Given the description of an element on the screen output the (x, y) to click on. 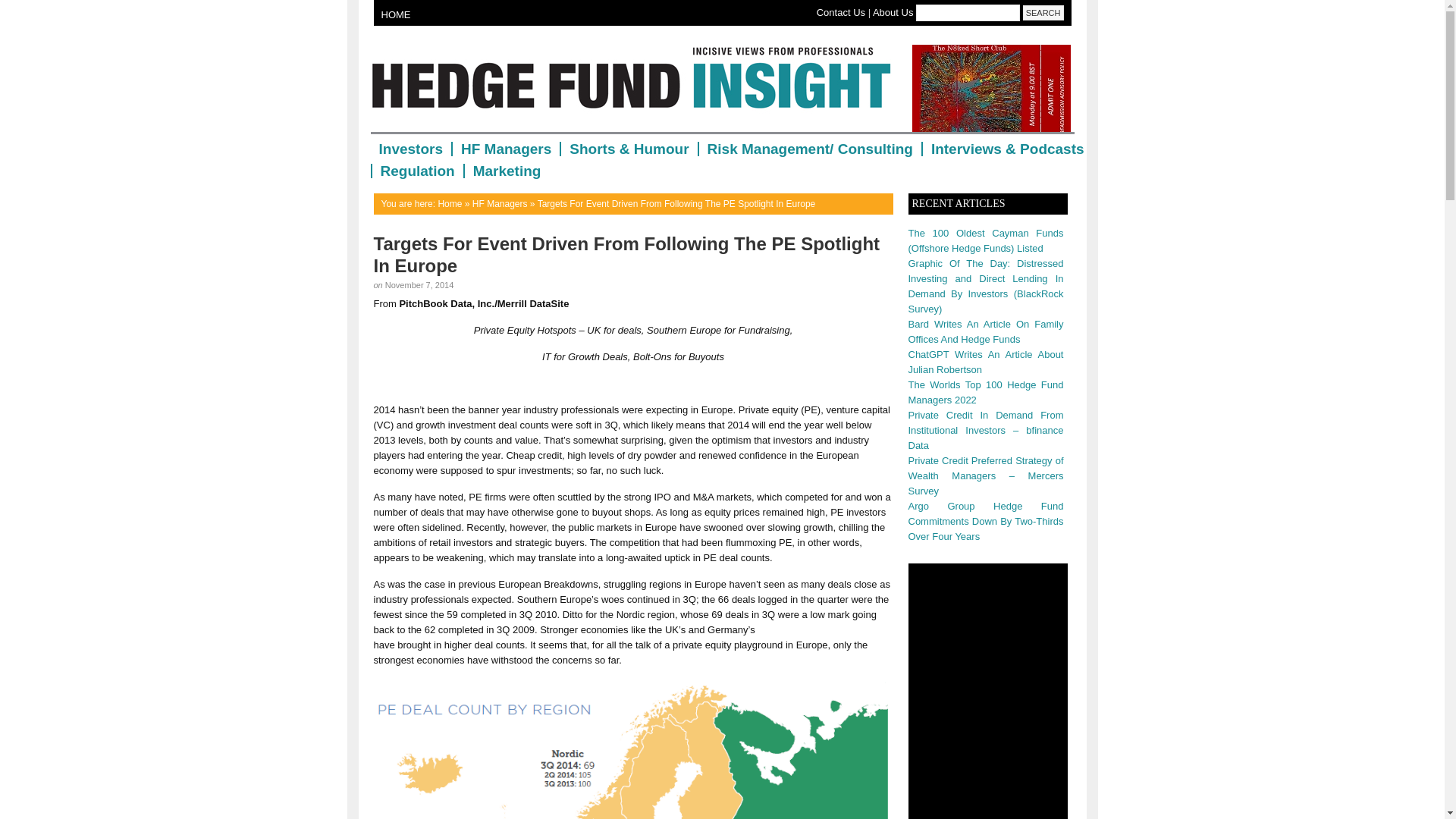
View all items in HF Managers (499, 204)
The Worlds Top 100 Hedge Fund Managers 2022 (986, 392)
View Home (449, 204)
Hedge Fund Insight (636, 85)
ChatGPT Writes An Article About Julian Robertson (986, 361)
HOME (395, 14)
Home (449, 204)
HF Managers (505, 148)
Regulation (416, 170)
